Given the description of an element on the screen output the (x, y) to click on. 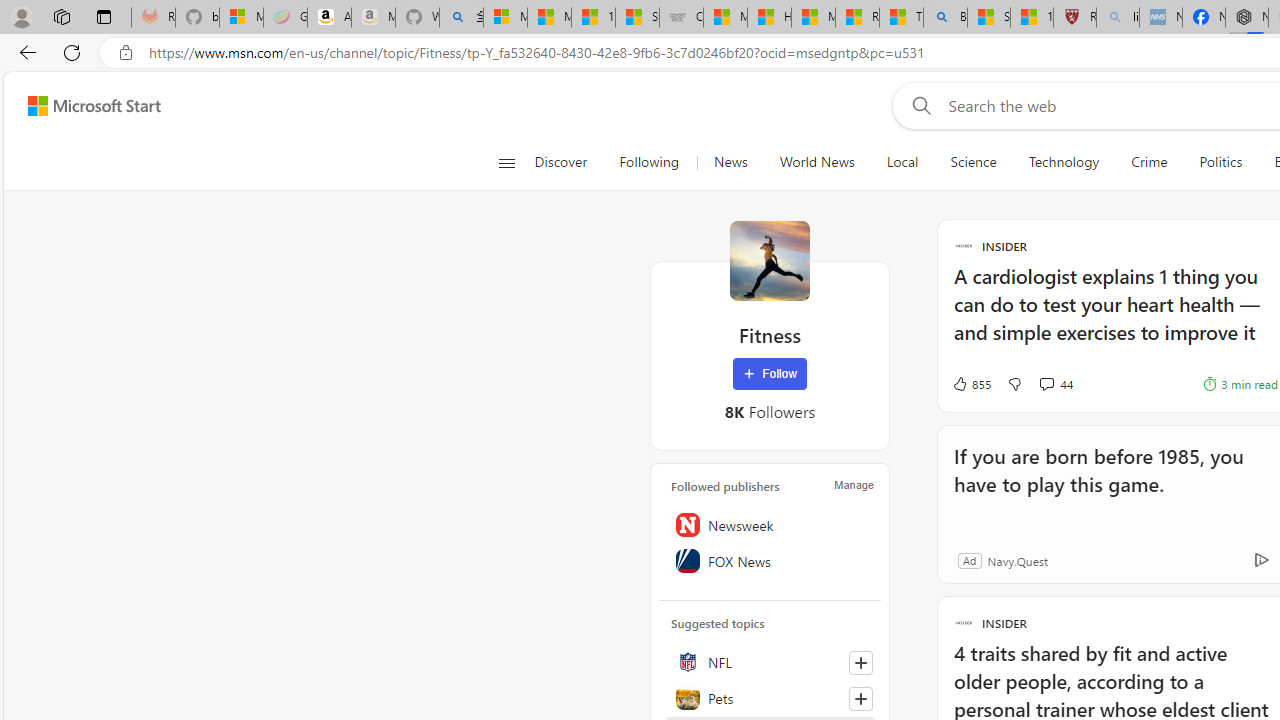
View comments 44 Comment (1046, 383)
12 Popular Science Lies that Must be Corrected (1032, 17)
Recipes - MSN (857, 17)
Follow (769, 373)
Science - MSN (988, 17)
Technology (1063, 162)
Manage (854, 484)
Web search (917, 105)
